Given the description of an element on the screen output the (x, y) to click on. 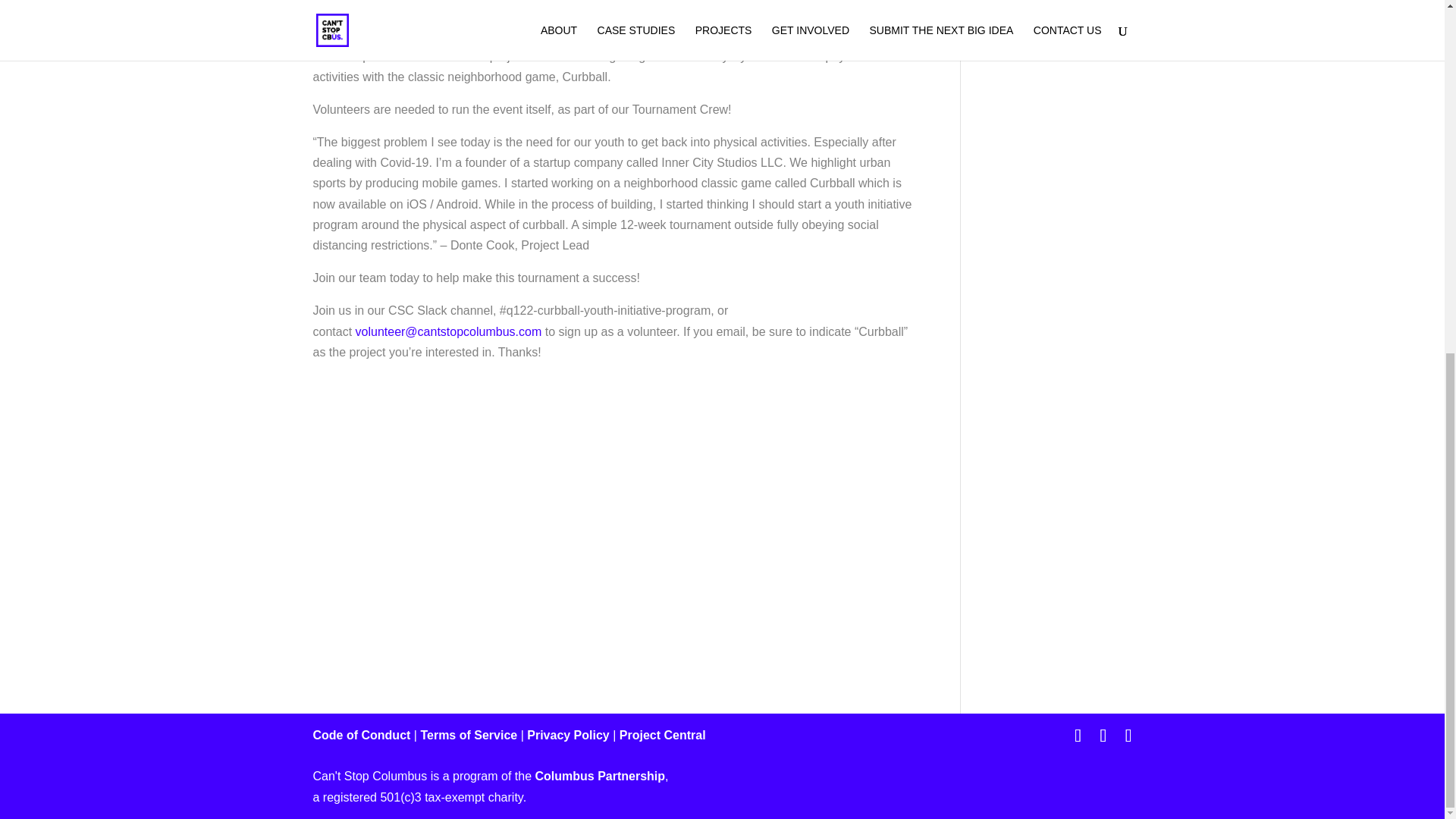
Columbus Partnership (599, 775)
Terms of Service (468, 735)
Project Central (663, 735)
Code of Conduct (361, 735)
Privacy Policy (568, 735)
